Given the description of an element on the screen output the (x, y) to click on. 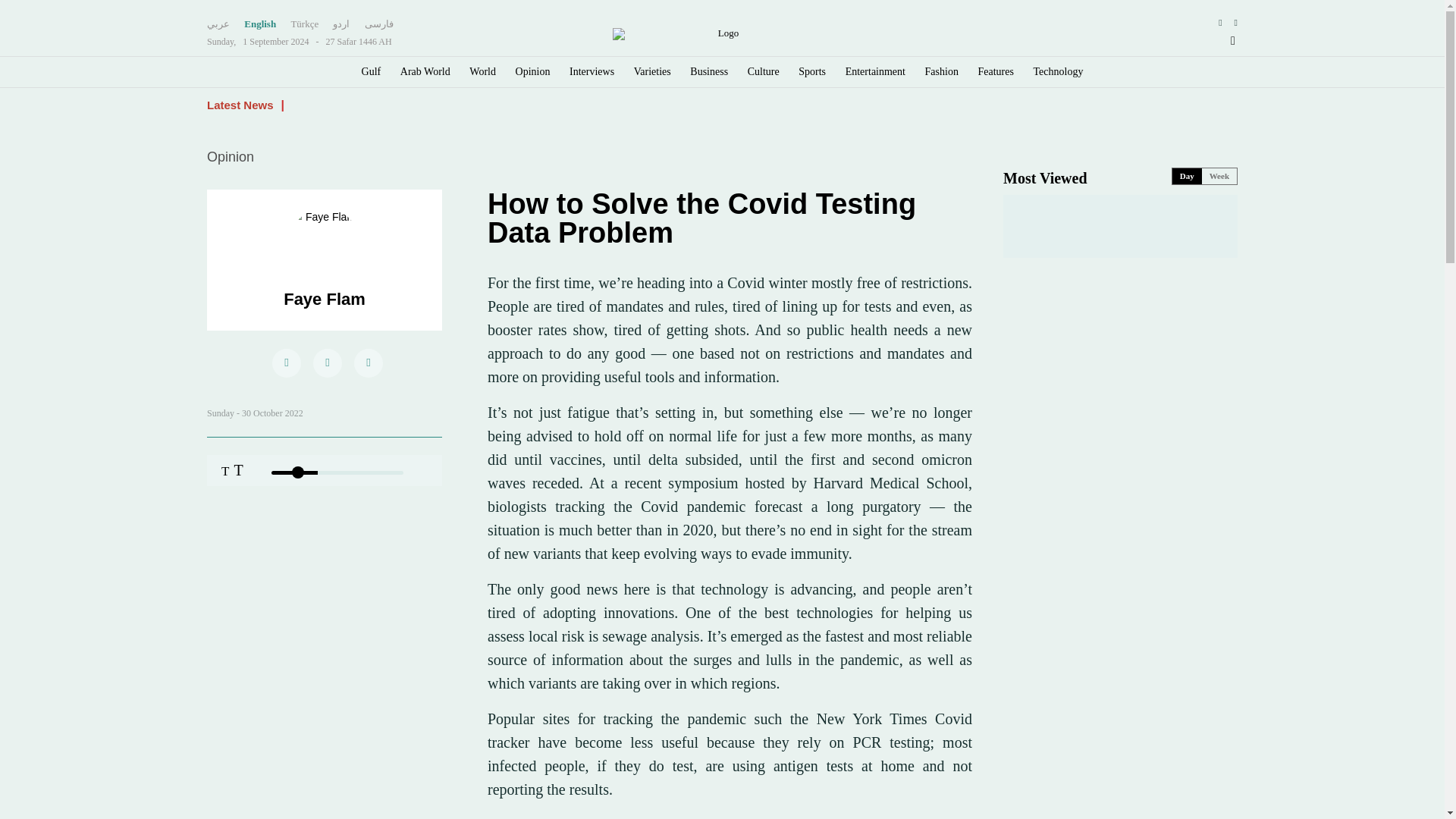
Technology (1058, 71)
Culture (763, 71)
20 (336, 472)
Features (995, 71)
Sports (811, 71)
English (260, 24)
Opinion (532, 71)
Interviews (591, 71)
Business (709, 71)
Entertainment (875, 71)
